Given the description of an element on the screen output the (x, y) to click on. 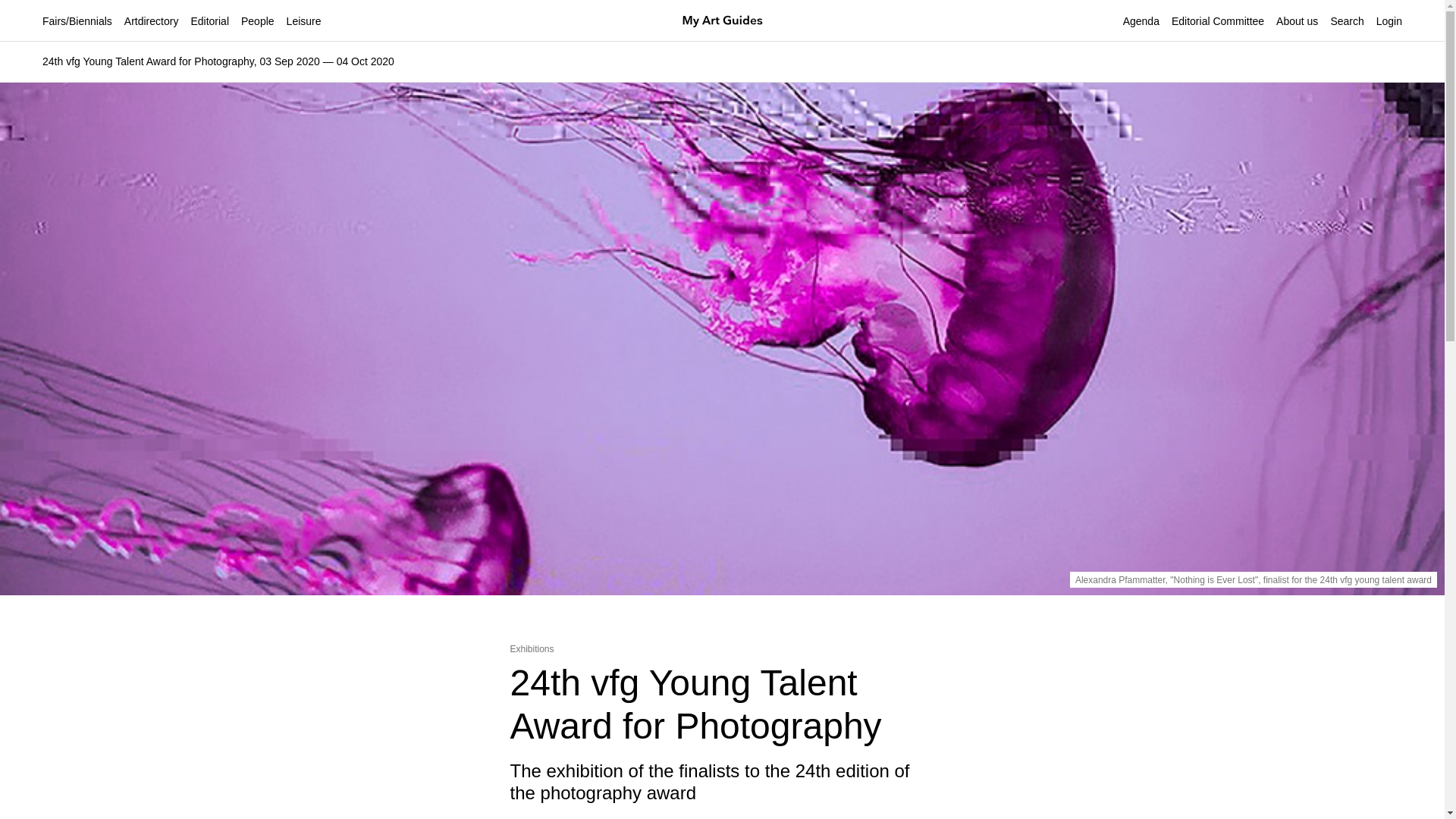
Search (595, 470)
Login (1388, 21)
Agenda (1140, 21)
Editorial (209, 21)
Artdirectory (151, 21)
Editorial Committee (1217, 21)
Leisure (303, 21)
People (258, 21)
Search (1346, 21)
About us (1296, 21)
